Given the description of an element on the screen output the (x, y) to click on. 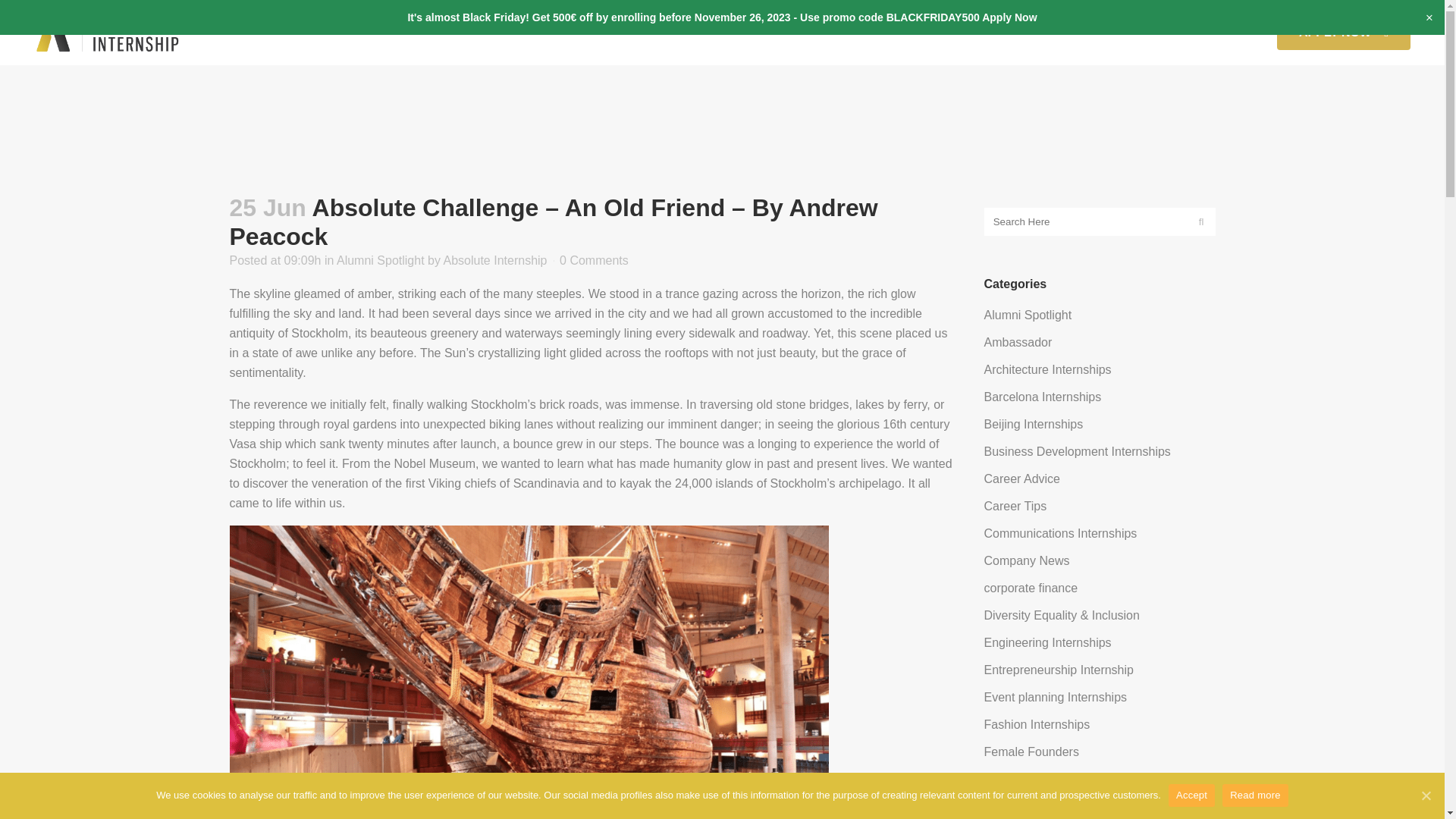
APPLY NOW (1343, 31)
Apply Now (1008, 17)
OUR PROGRAMS (446, 32)
DESTINATIONS (552, 32)
INDUSTRIES (647, 32)
